Given the description of an element on the screen output the (x, y) to click on. 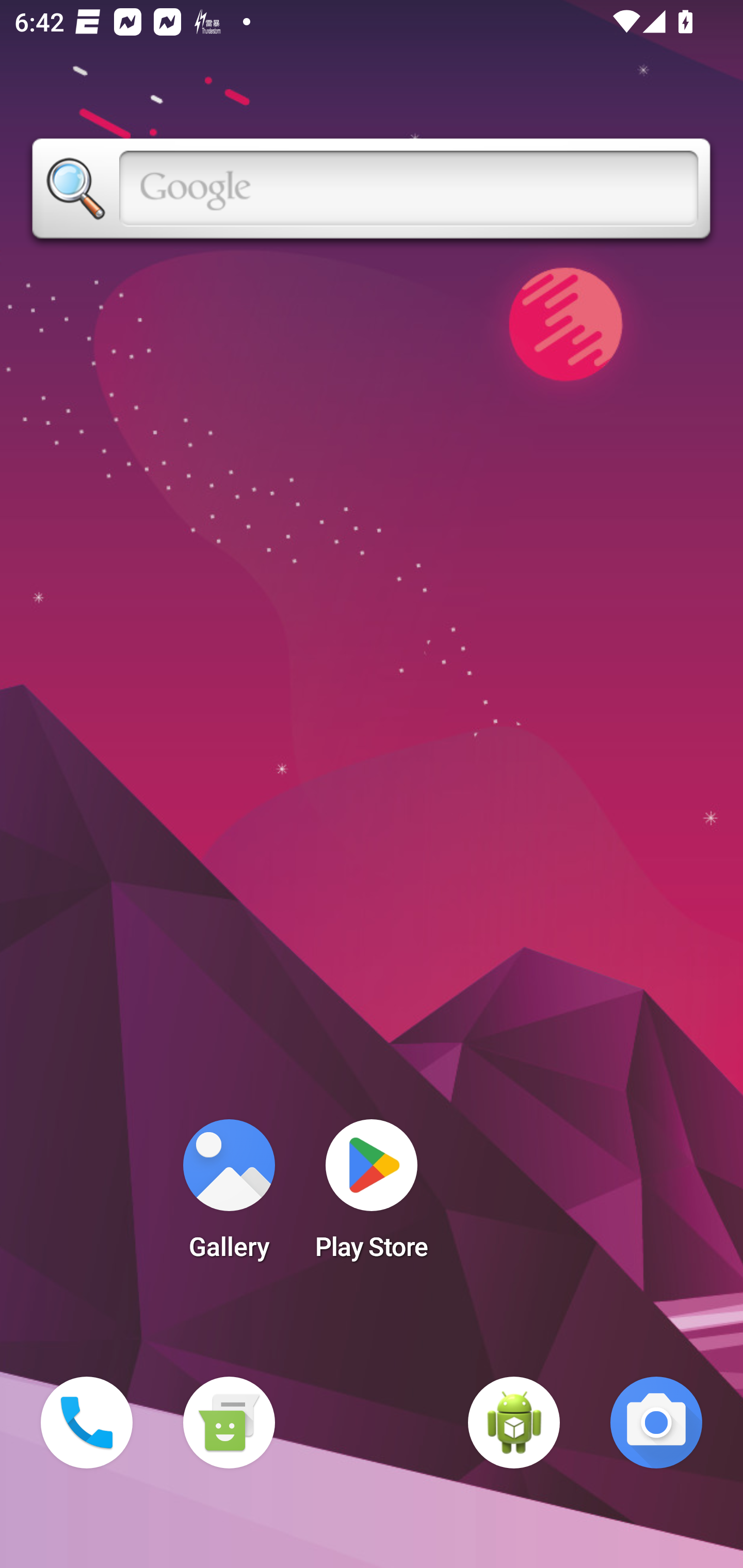
Gallery (228, 1195)
Play Store (371, 1195)
Phone (86, 1422)
Messaging (228, 1422)
WebView Browser Tester (513, 1422)
Camera (656, 1422)
